Given the description of an element on the screen output the (x, y) to click on. 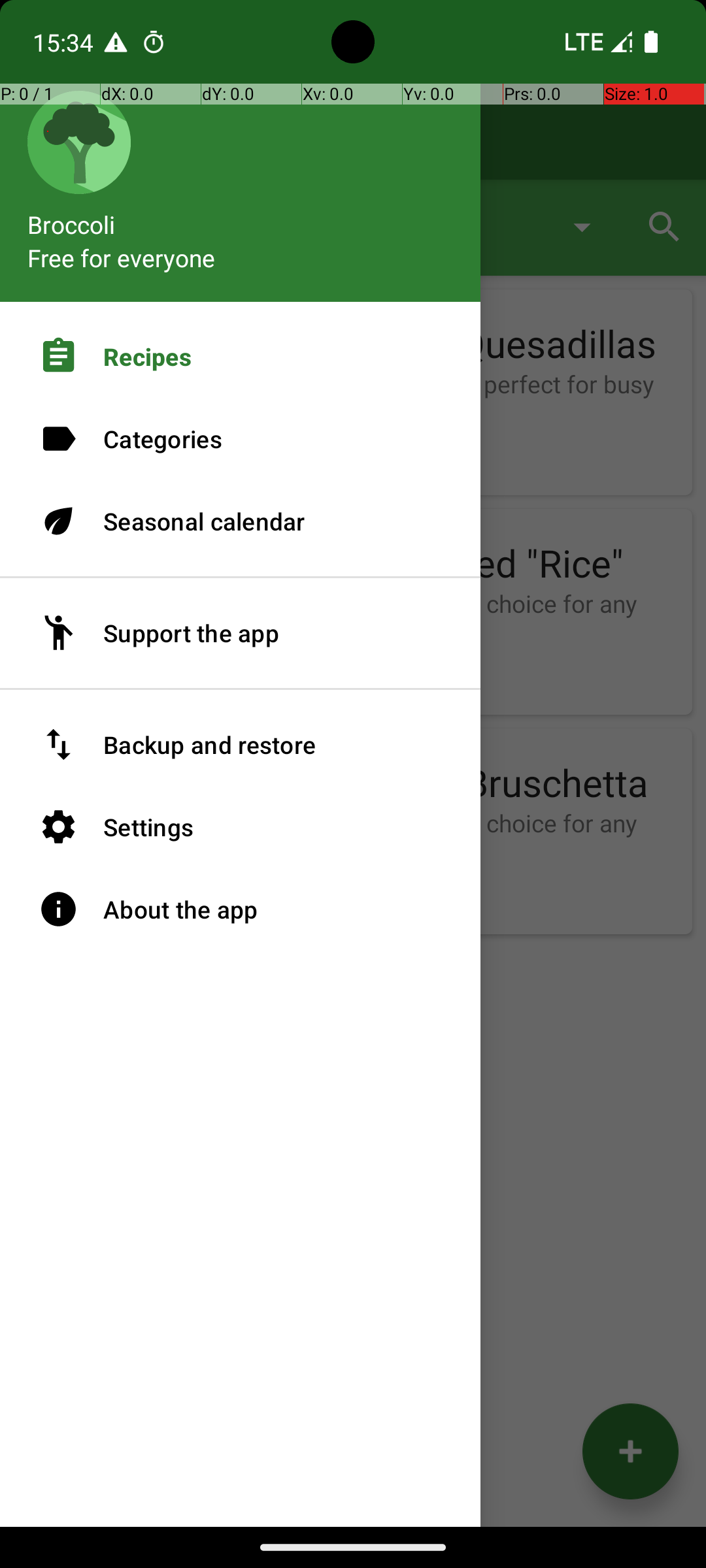
Free for everyone Element type: android.widget.TextView (121, 257)
Seasonal calendar Element type: android.widget.CheckedTextView (239, 521)
Support the app Element type: android.widget.CheckedTextView (239, 632)
Backup and restore Element type: android.widget.CheckedTextView (239, 744)
About the app Element type: android.widget.CheckedTextView (239, 909)
